Given the description of an element on the screen output the (x, y) to click on. 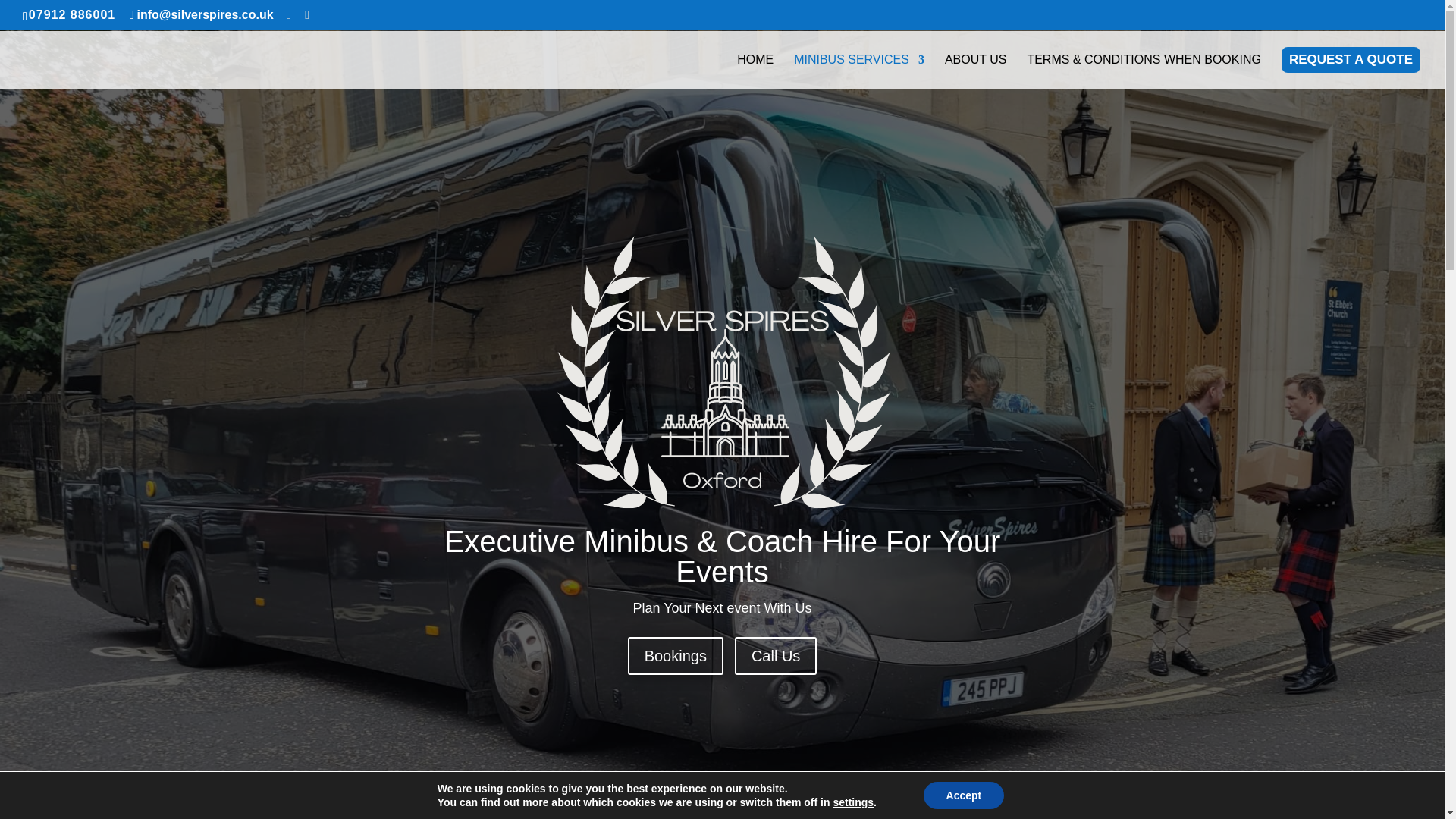
Call Us (775, 655)
settings (852, 802)
Bookings (675, 655)
REQUEST A QUOTE (1350, 67)
HOME (754, 70)
ABOUT US (975, 70)
MINIBUS SERVICES (858, 70)
07912 886001 (72, 14)
